Given the description of an element on the screen output the (x, y) to click on. 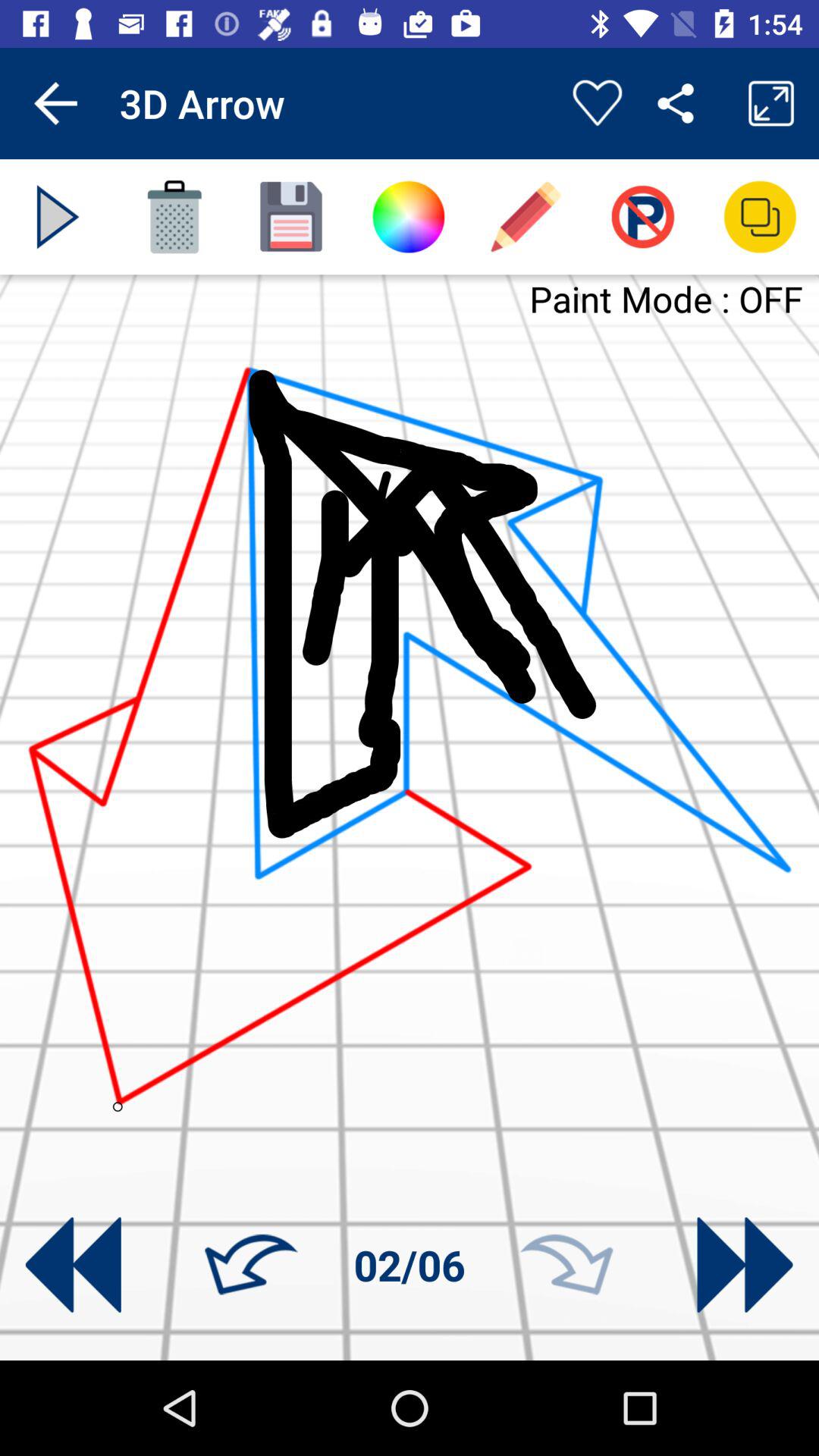
press app to the left of 3d arrow app (55, 103)
